Given the description of an element on the screen output the (x, y) to click on. 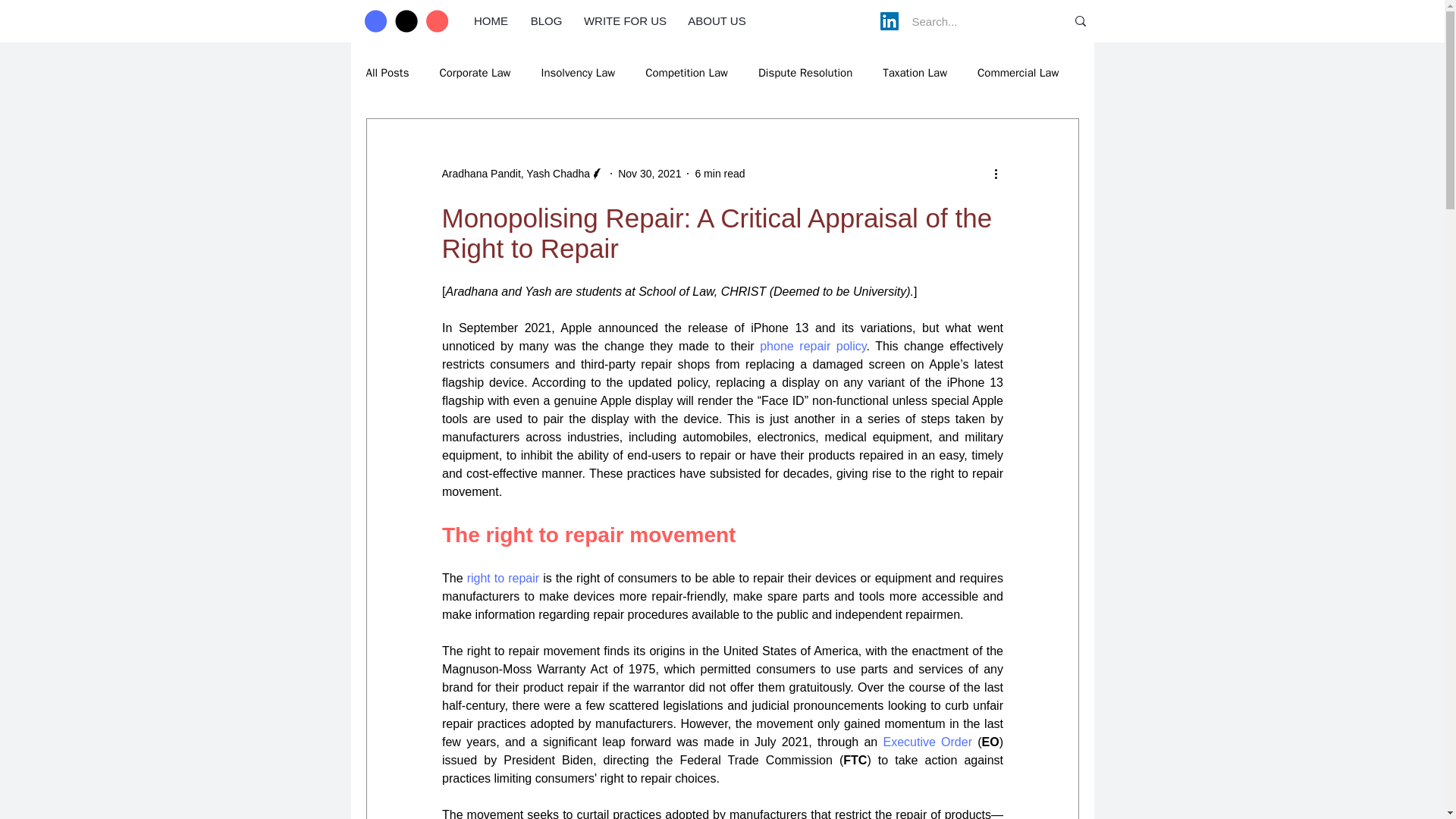
ABOUT US (716, 20)
Commercial Law (1017, 72)
right to repair (501, 577)
WRITE FOR US (624, 20)
All Posts (387, 72)
Nov 30, 2021 (649, 173)
phone repair policy (813, 345)
6 min read (719, 173)
Corporate Law (475, 72)
Aradhana Pandit, Yash Chadha (515, 172)
Taxation Law (914, 72)
Dispute Resolution (804, 72)
Three Dots - White.png (406, 21)
Executive Order (927, 741)
Competition Law (686, 72)
